Given the description of an element on the screen output the (x, y) to click on. 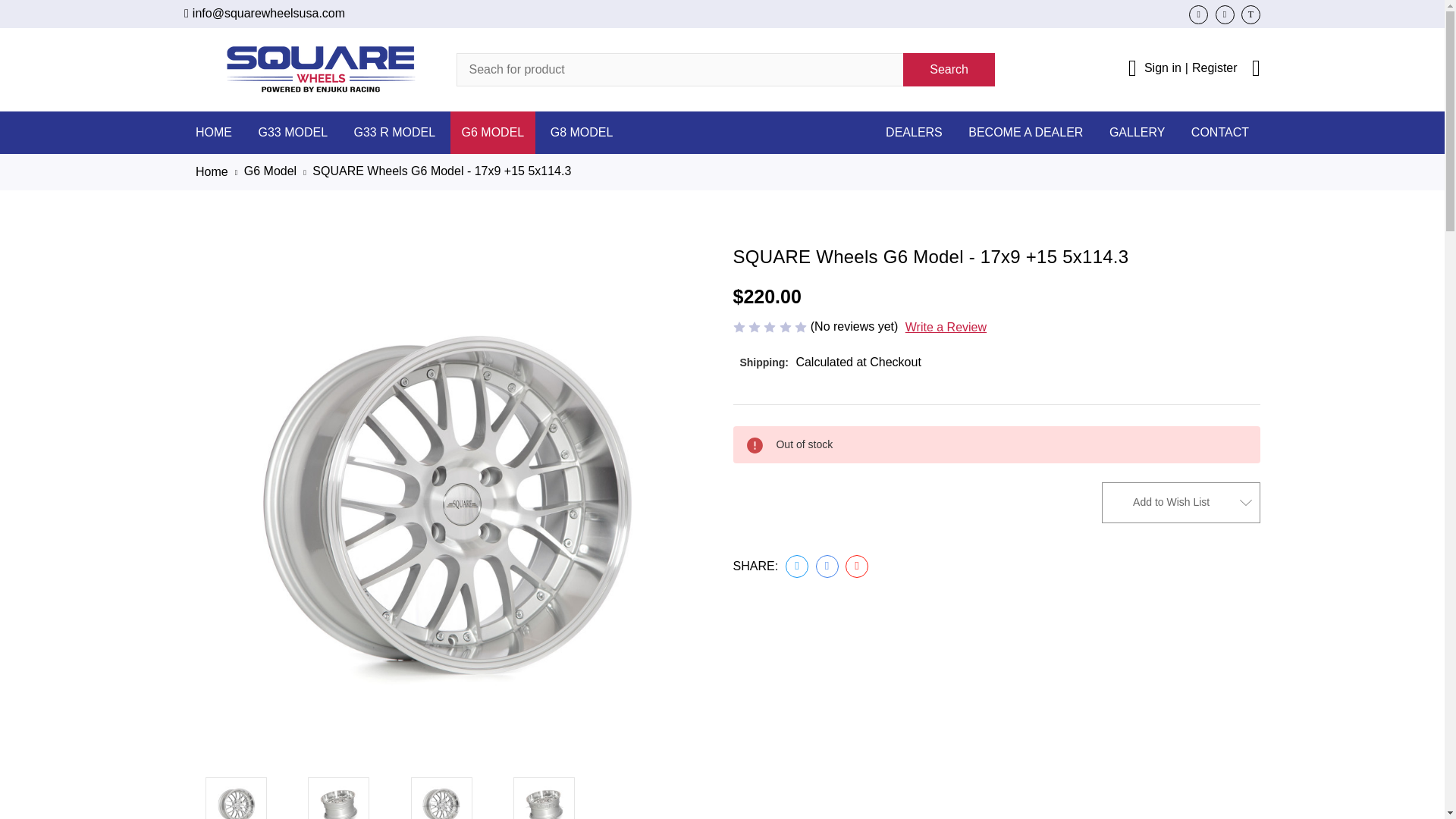
SQUARE Wheels USA (319, 68)
Home (211, 171)
HOME (213, 131)
Facebook (797, 566)
Email (826, 566)
G6 MODEL (492, 131)
G33 MODEL (292, 131)
Search (948, 69)
Print (856, 566)
Register (1214, 67)
